Given the description of an element on the screen output the (x, y) to click on. 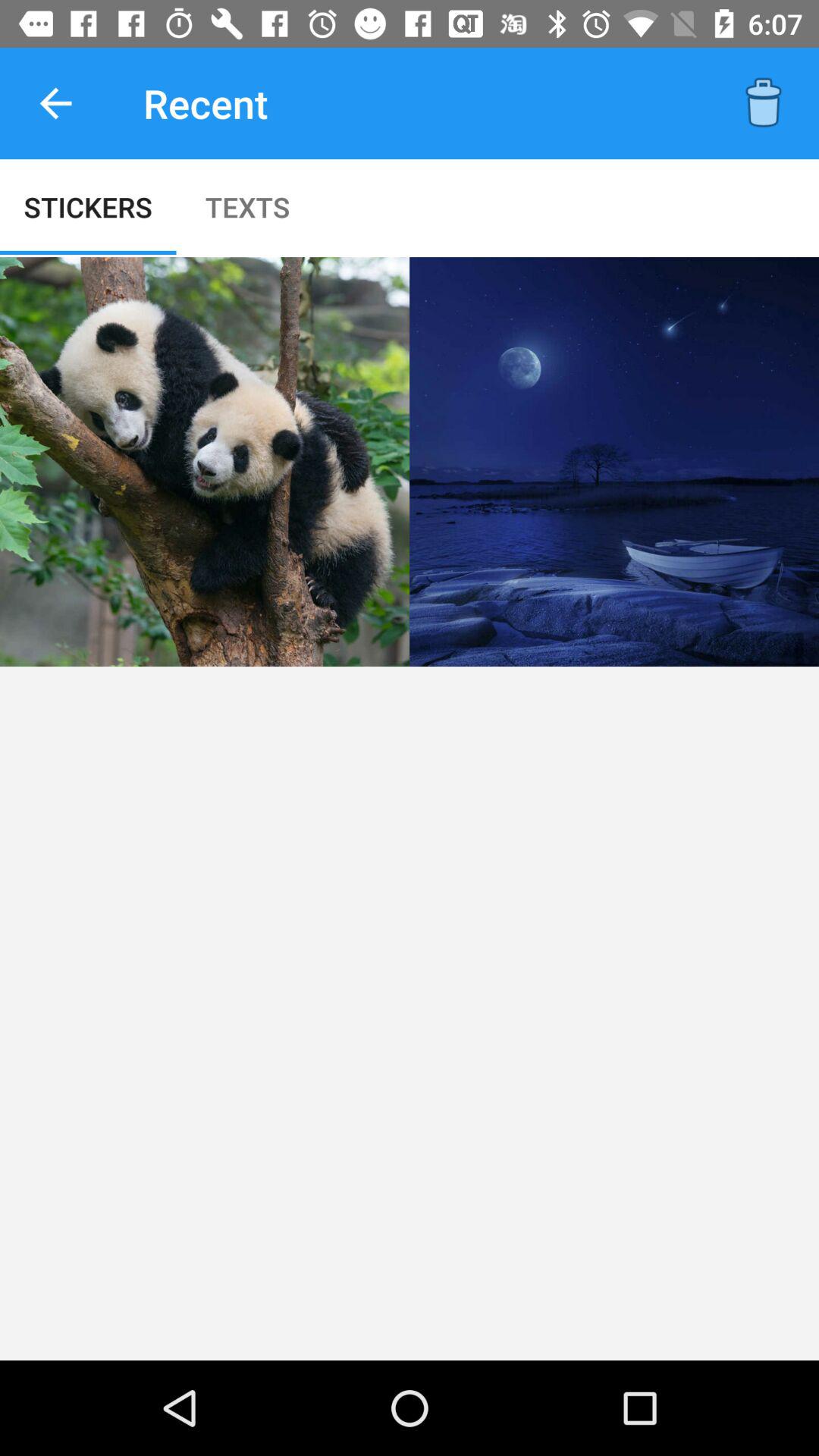
click the item next to recent (55, 103)
